Given the description of an element on the screen output the (x, y) to click on. 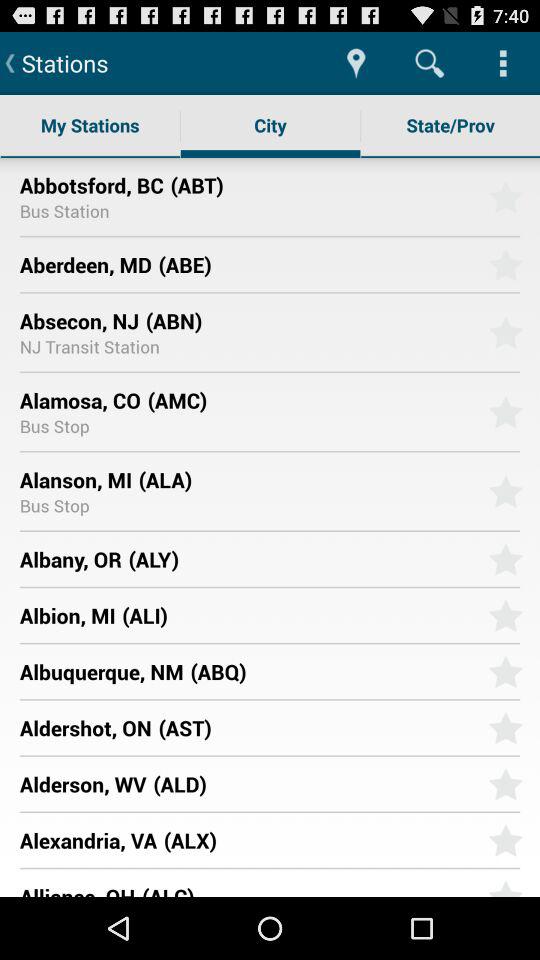
flip to the albany, or (70, 558)
